Given the description of an element on the screen output the (x, y) to click on. 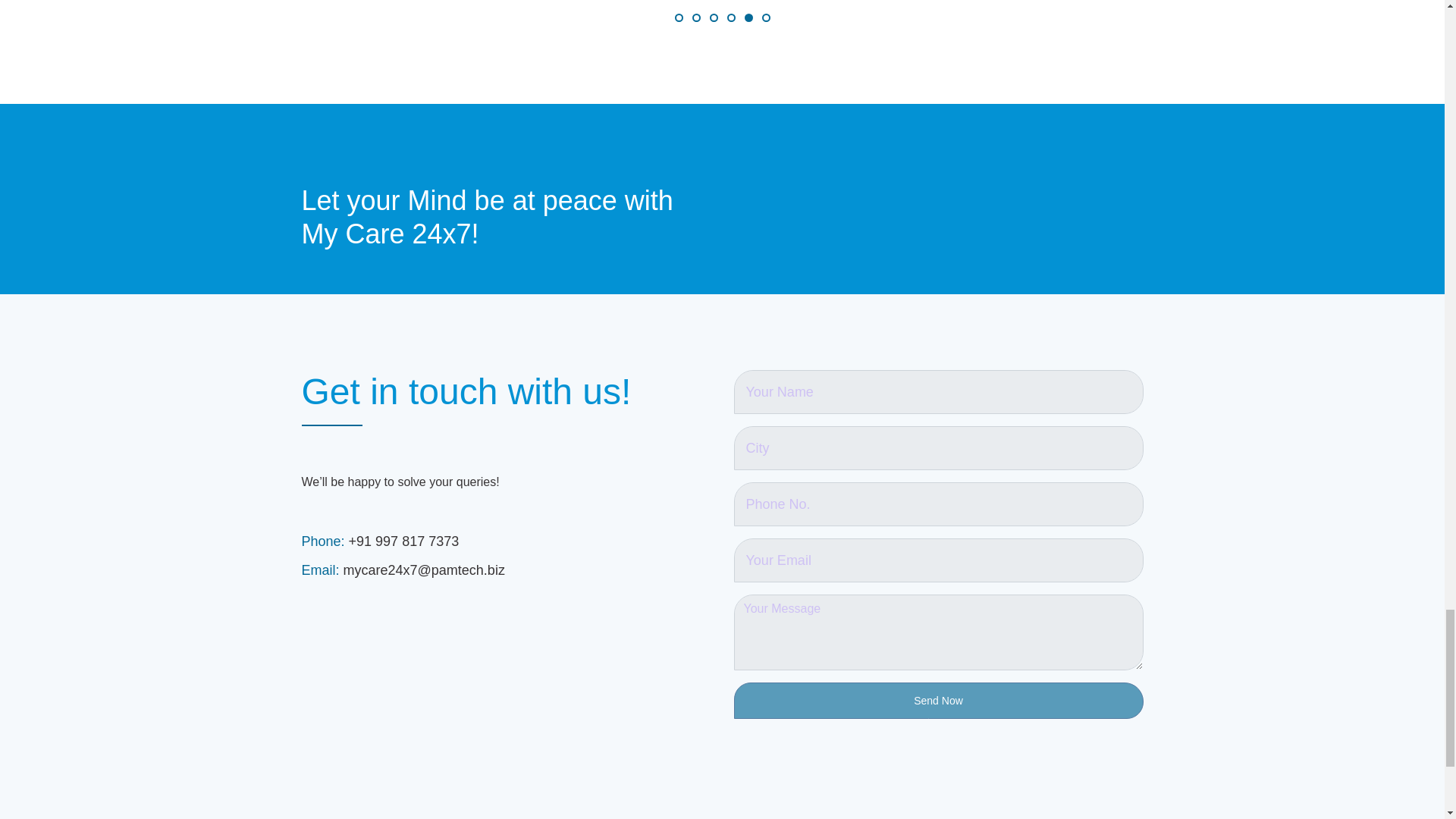
Send Now (937, 700)
Send Now (937, 700)
